Given the description of an element on the screen output the (x, y) to click on. 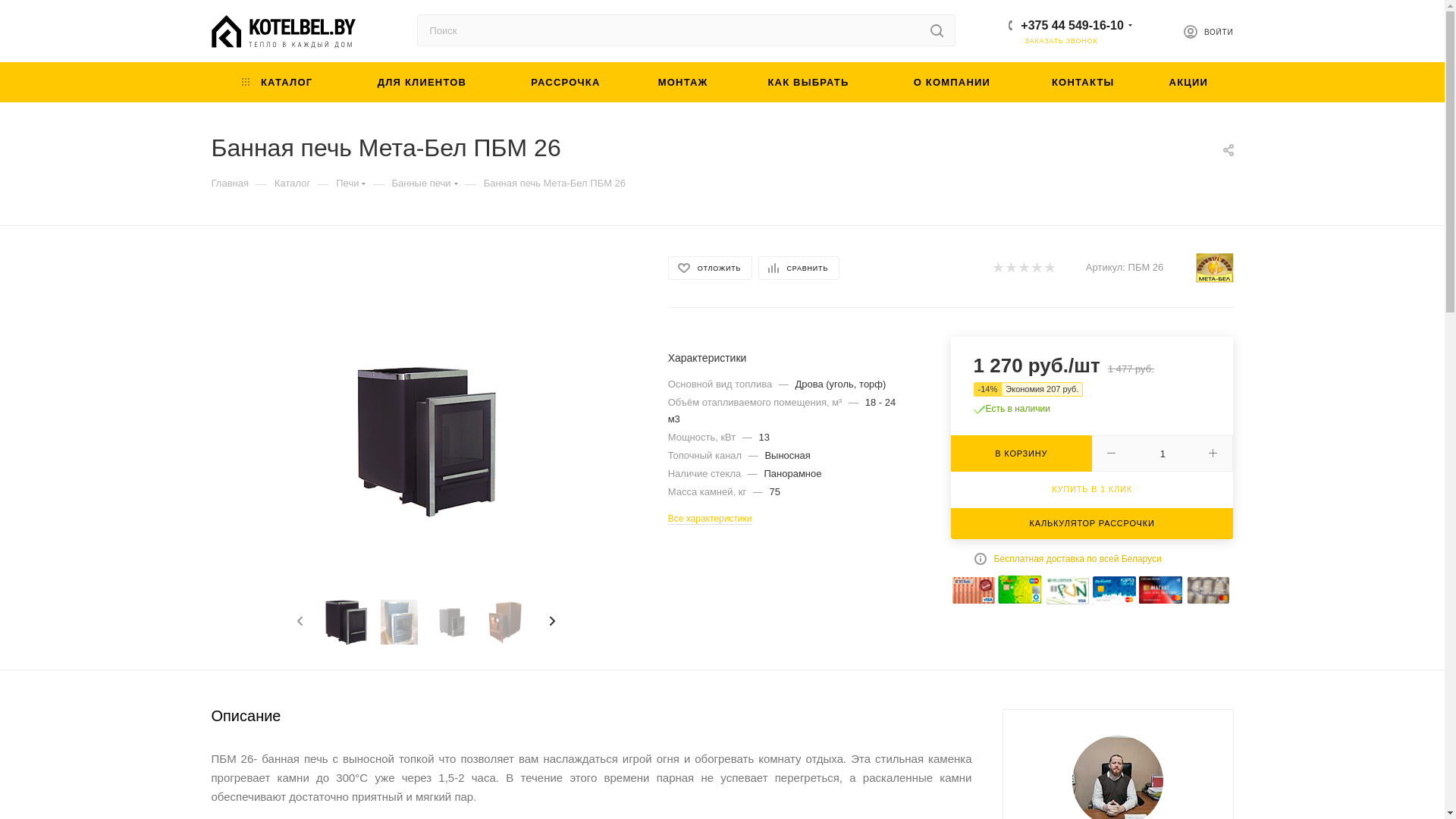
+375 44 549-16-10 Element type: text (1071, 24)
